Given the description of an element on the screen output the (x, y) to click on. 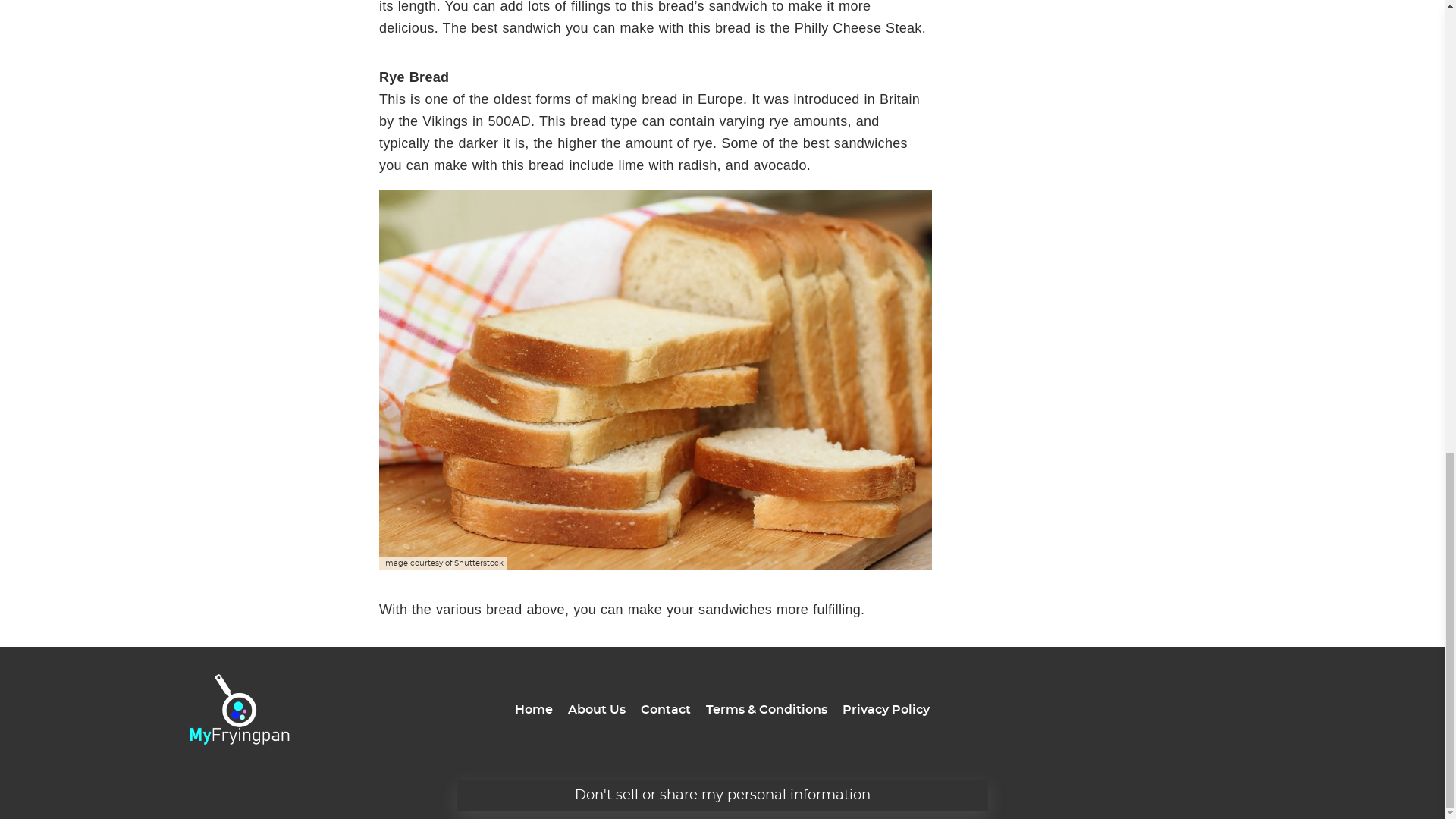
Privacy Policy (886, 709)
About Us (596, 709)
Contact (665, 709)
Home (534, 709)
